Given the description of an element on the screen output the (x, y) to click on. 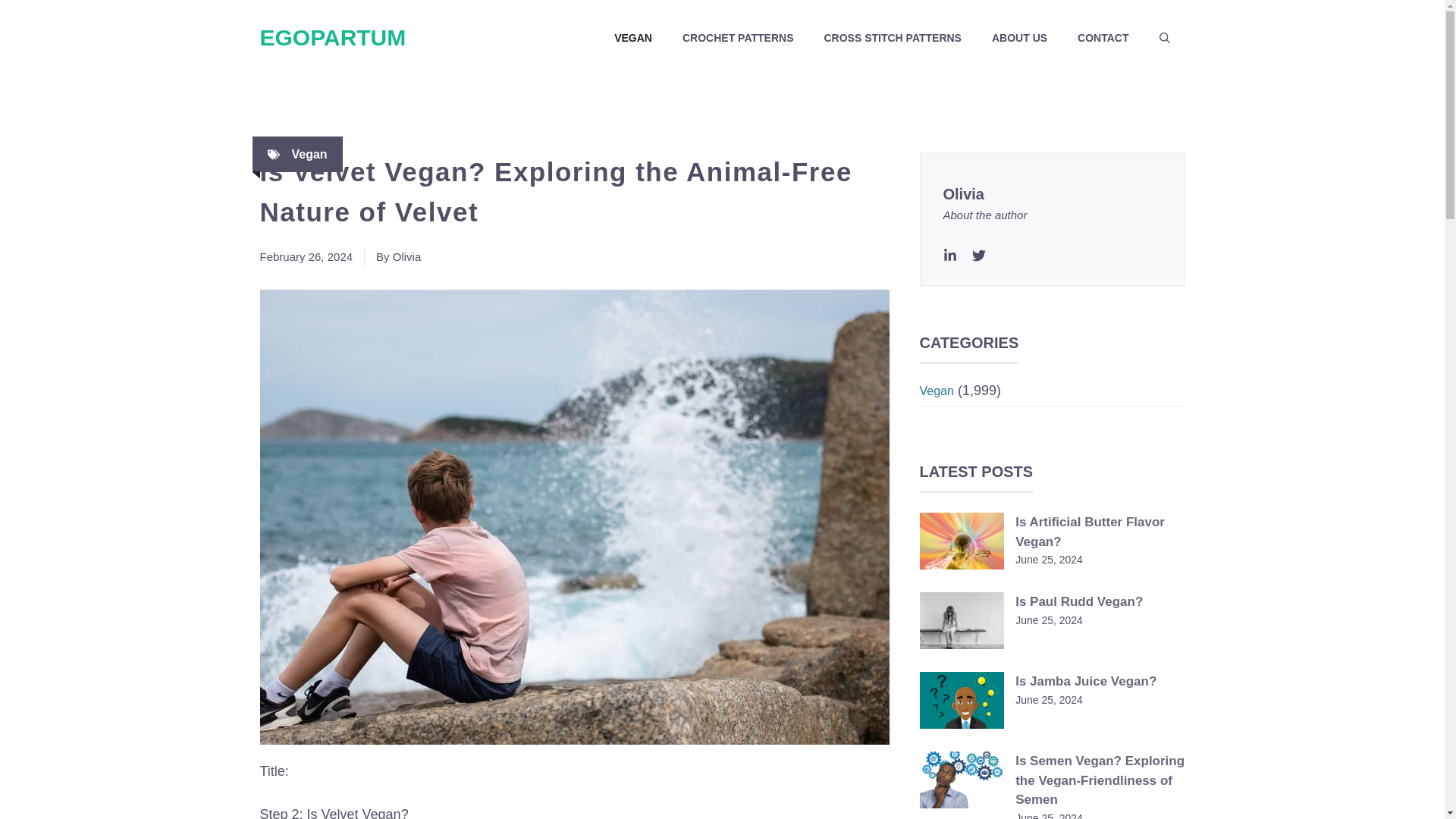
VEGAN (632, 37)
CONTACT (1102, 37)
Is Artificial Butter Flavor Vegan? (1089, 531)
Is Semen Vegan? Exploring the Vegan-Friendliness of Semen (1099, 779)
Is Jamba Juice Vegan? (1085, 681)
EGOPARTUM (332, 37)
CROSS STITCH PATTERNS (892, 37)
Vegan (308, 154)
CROCHET PATTERNS (737, 37)
Vegan (935, 390)
ABOUT US (1019, 37)
Is Paul Rudd Vegan? (1078, 601)
